Given the description of an element on the screen output the (x, y) to click on. 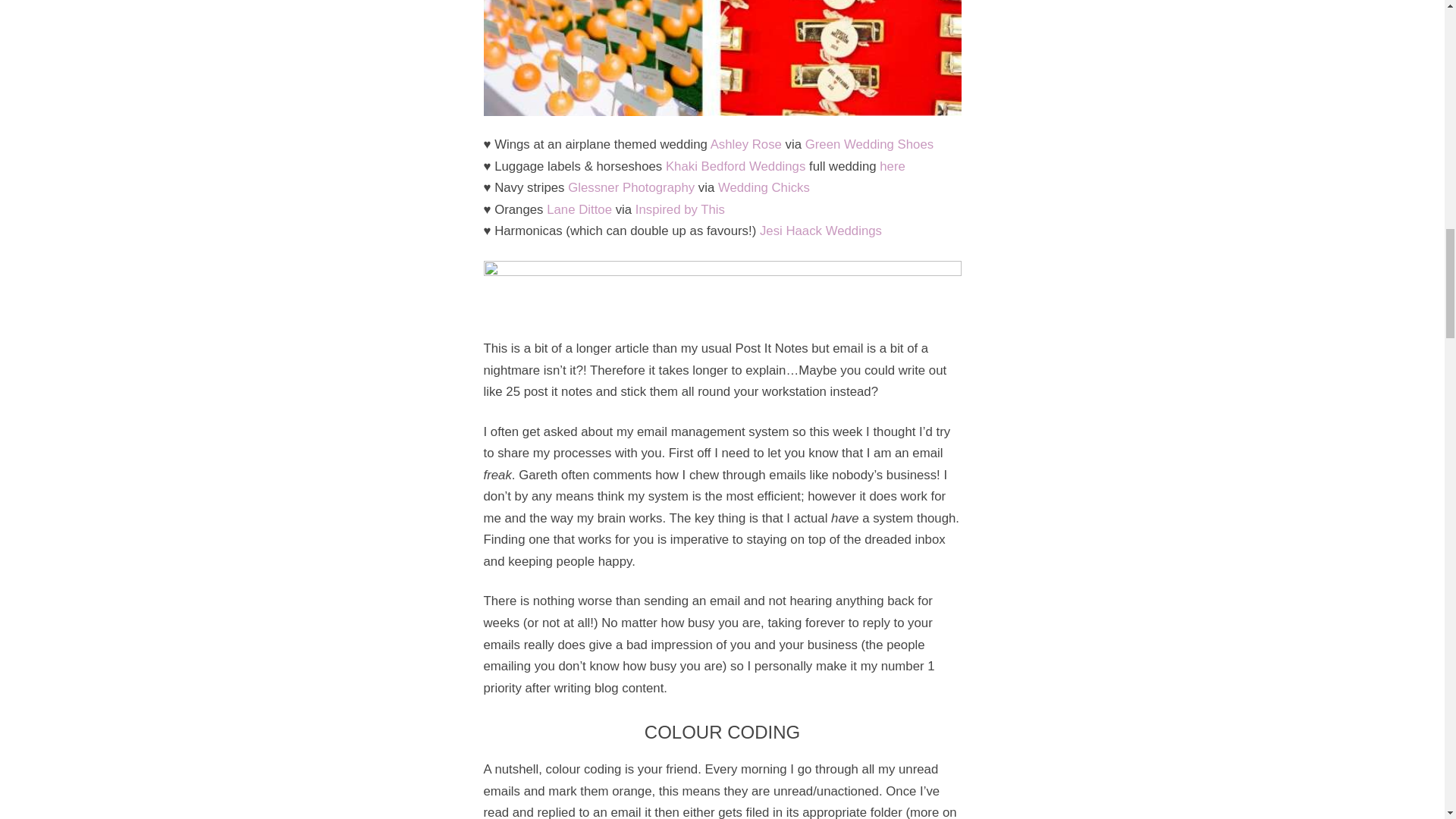
escort card ideas (721, 58)
Ashley Rose (745, 144)
Khaki Bedford Weddings (735, 165)
Green Wedding Shoes (869, 144)
business-note1111211111111112 (721, 290)
